Given the description of an element on the screen output the (x, y) to click on. 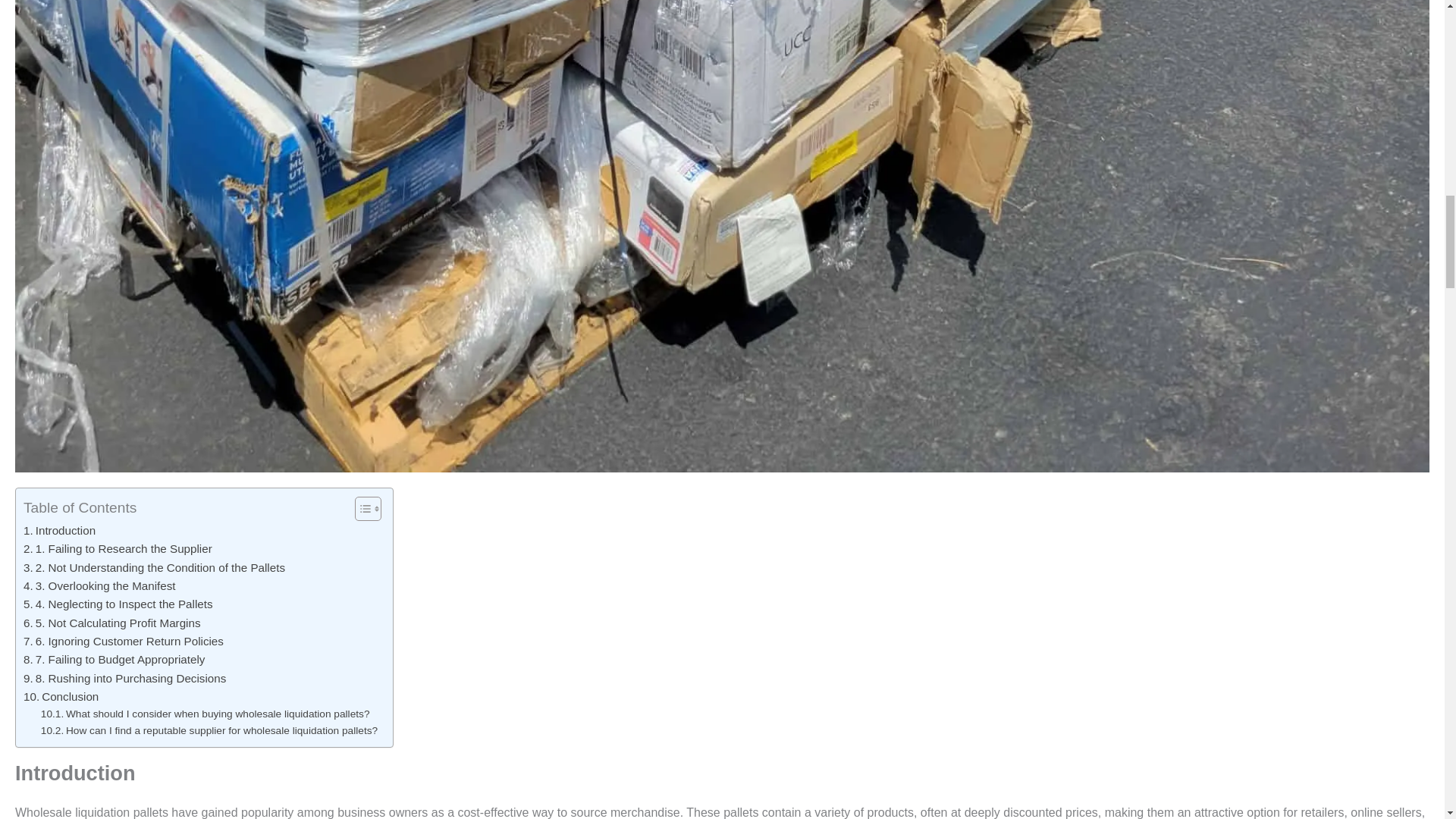
5. Not Calculating Profit Margins (111, 623)
8. Rushing into Purchasing Decisions (124, 678)
6. Ignoring Customer Return Policies (123, 641)
Introduction (59, 530)
3. Overlooking the Manifest (99, 586)
1. Failing to Research the Supplier (117, 548)
Conclusion (61, 696)
7. Failing to Budget Appropriately (114, 659)
4. Neglecting to Inspect the Pallets (117, 604)
